Given the description of an element on the screen output the (x, y) to click on. 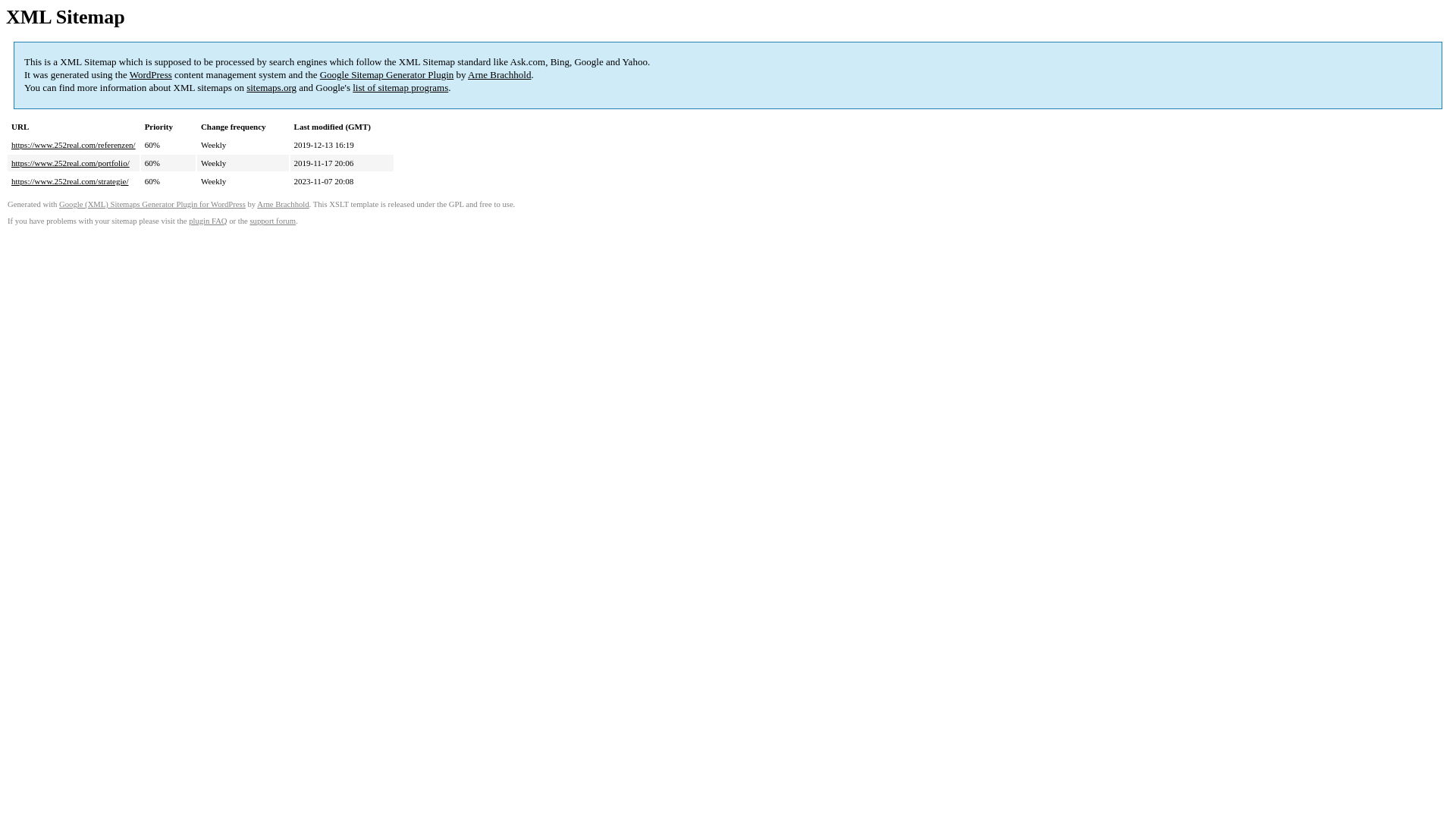
Google (XML) Sitemaps Generator Plugin for WordPress Element type: text (152, 204)
plugin FAQ Element type: text (207, 220)
WordPress Element type: text (150, 74)
https://www.252real.com/strategie/ Element type: text (69, 180)
sitemaps.org Element type: text (271, 87)
https://www.252real.com/referenzen/ Element type: text (73, 144)
Arne Brachhold Element type: text (498, 74)
Arne Brachhold Element type: text (282, 204)
https://www.252real.com/portfolio/ Element type: text (70, 162)
support forum Element type: text (272, 220)
list of sitemap programs Element type: text (400, 87)
Google Sitemap Generator Plugin Element type: text (387, 74)
